Given the description of an element on the screen output the (x, y) to click on. 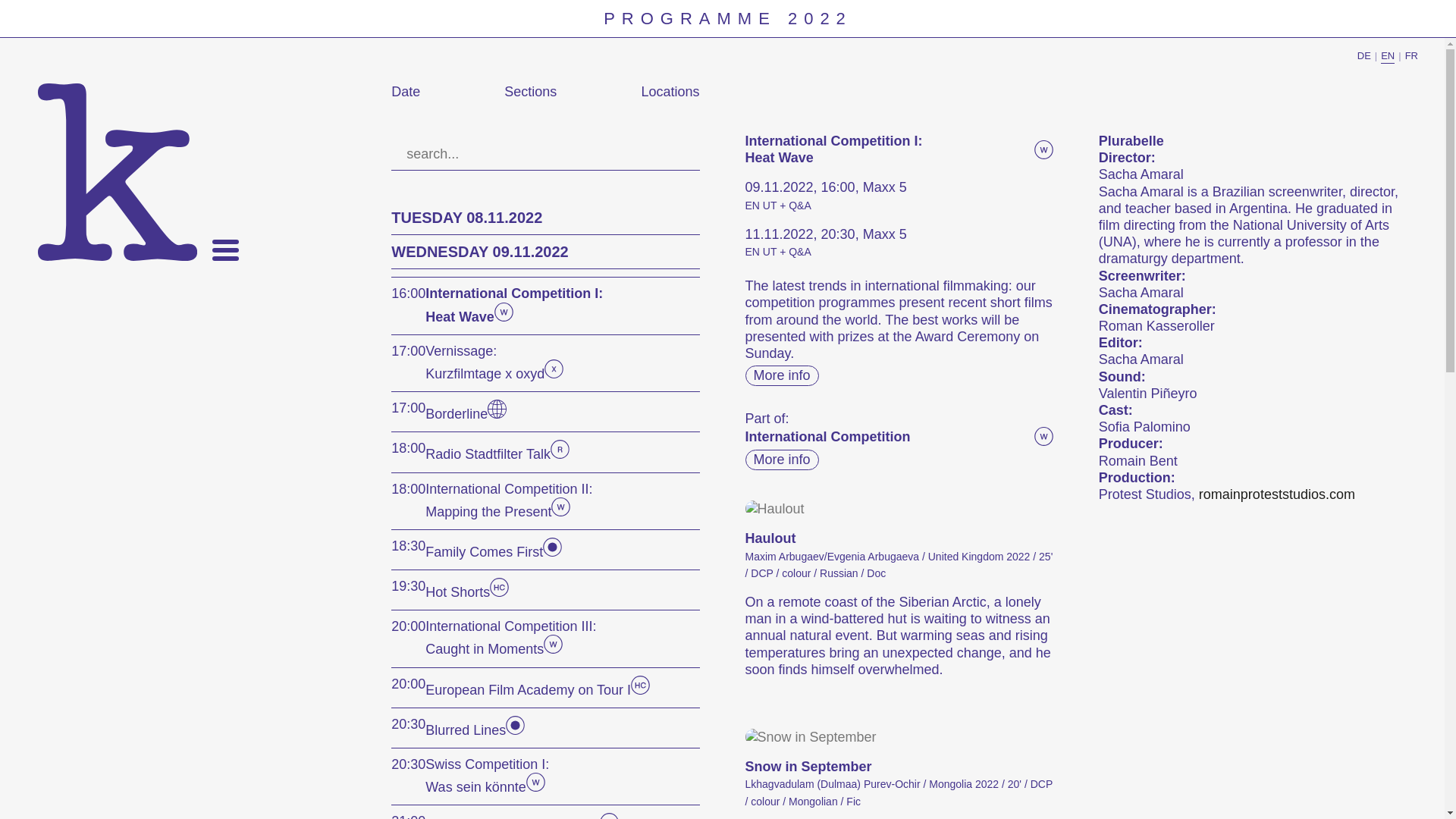
International Competition (552, 648)
Main Focus: Los Estados Andinos (514, 729)
Internationale Kurzfilmtage Winterthur (116, 172)
Expanded Cinema (553, 373)
Hors Concours (498, 591)
Swiss Competition (534, 786)
International Competition (560, 511)
International Competition (504, 316)
Internationale Kurzfilmtage Winterthur (116, 172)
Main Focus: Los Estados Andinos (552, 551)
